Given the description of an element on the screen output the (x, y) to click on. 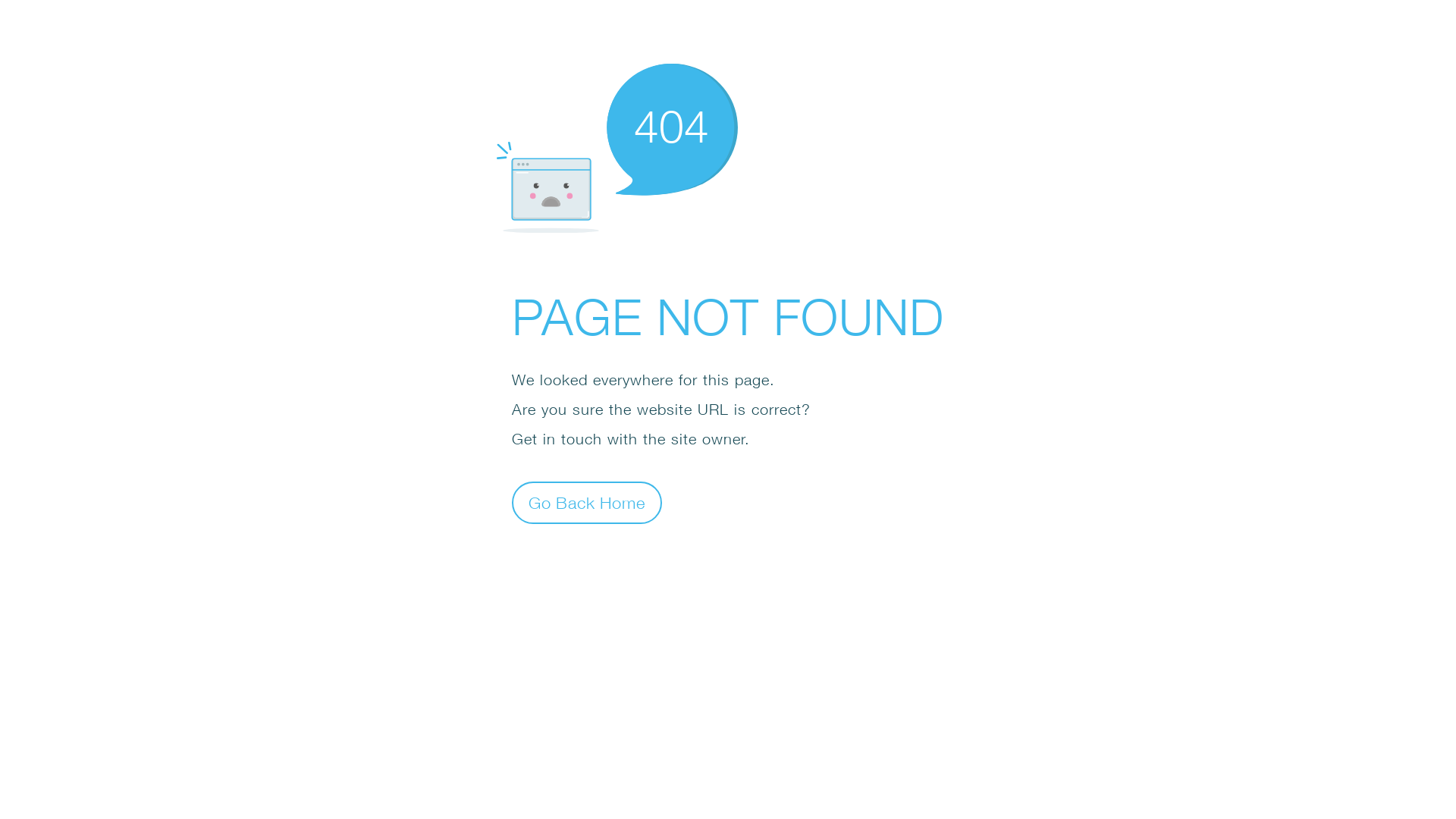
Go Back Home Element type: text (586, 502)
